Given the description of an element on the screen output the (x, y) to click on. 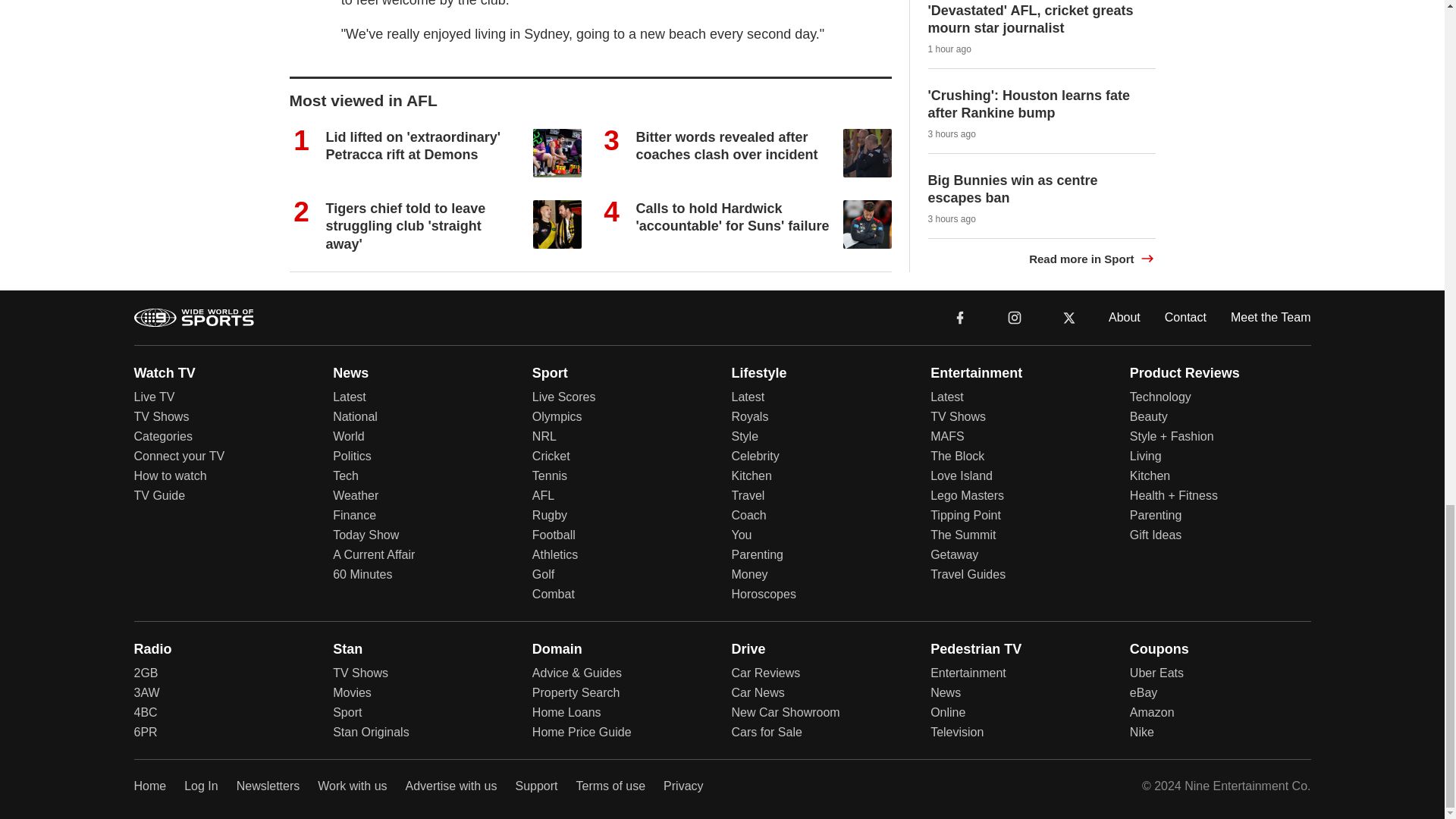
Lid lifted on 'extraordinary' Petracca rift at Demons (413, 145)
facebook (959, 316)
instagram (1014, 317)
facebook (959, 316)
x (1069, 317)
instagram (1013, 316)
facebook (960, 317)
x (1069, 316)
Calls to hold Hardwick 'accountable' for Suns' failure (731, 216)
x (1069, 316)
